Given the description of an element on the screen output the (x, y) to click on. 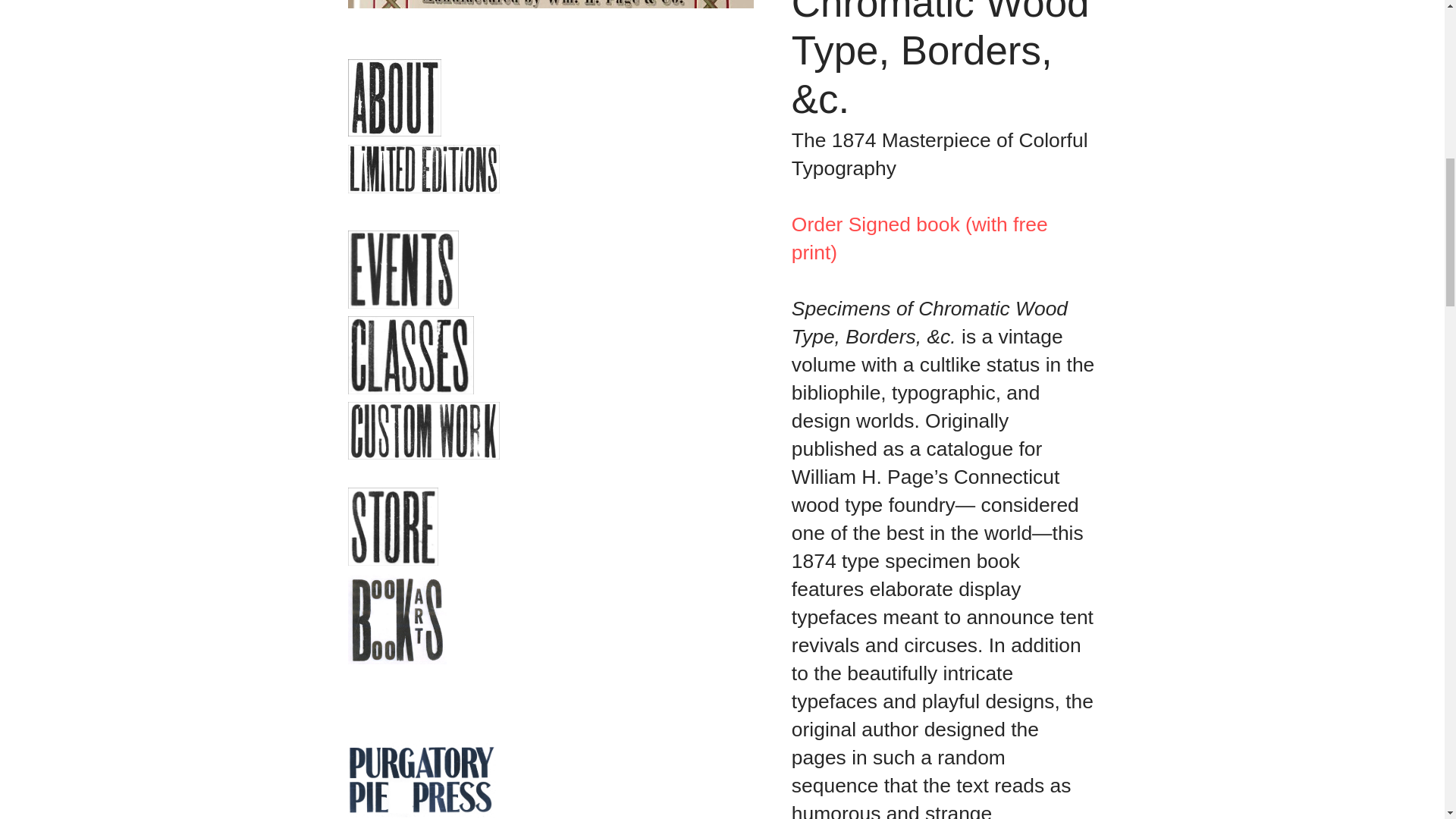
Mark (781, 58)
